Given the description of an element on the screen output the (x, y) to click on. 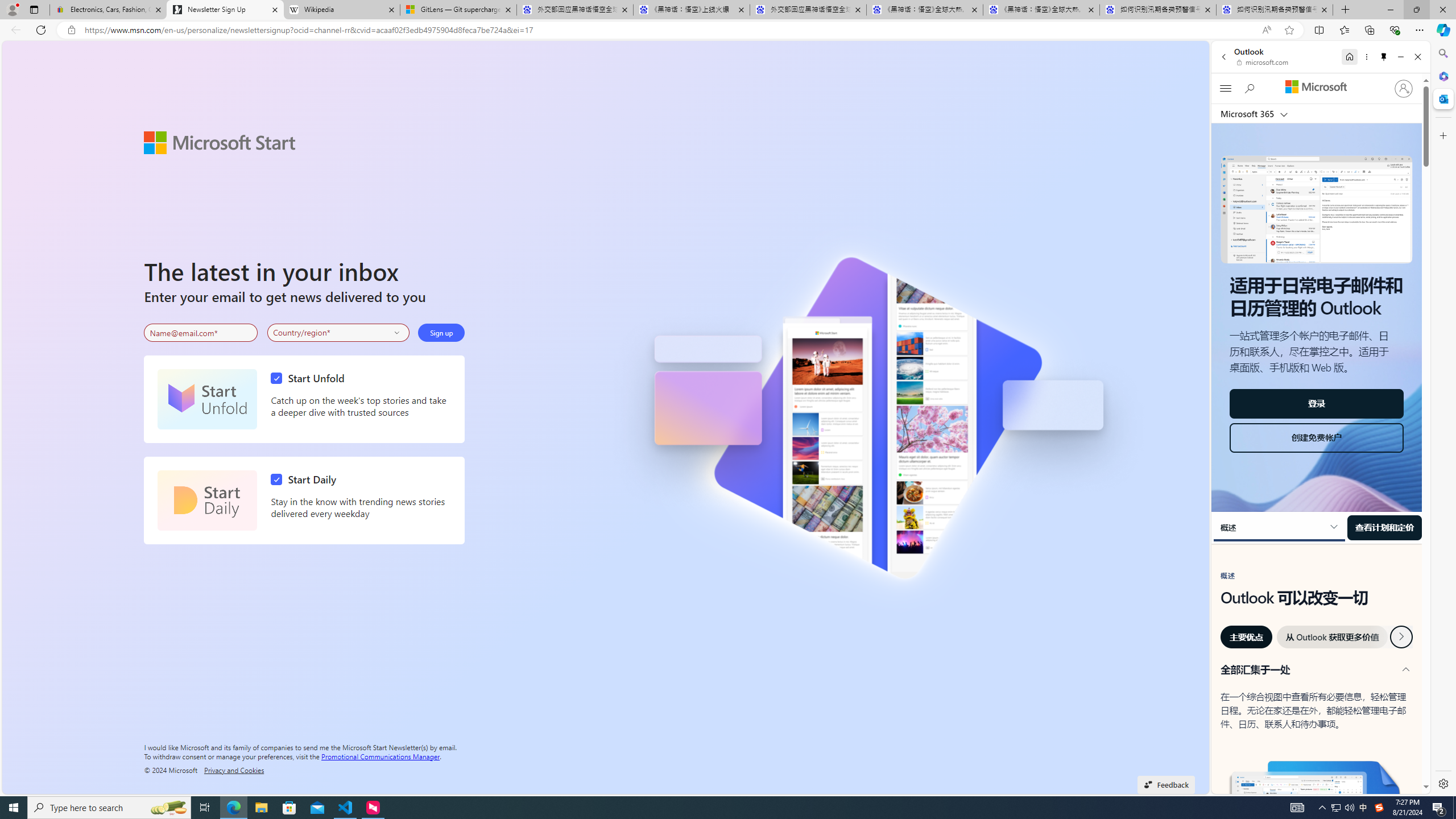
Microsoft (1315, 87)
More options (1366, 56)
Newsletter Sign Up (224, 9)
Microsoft 365 (1442, 76)
Feedback (1166, 784)
Start Daily (207, 500)
